Given the description of an element on the screen output the (x, y) to click on. 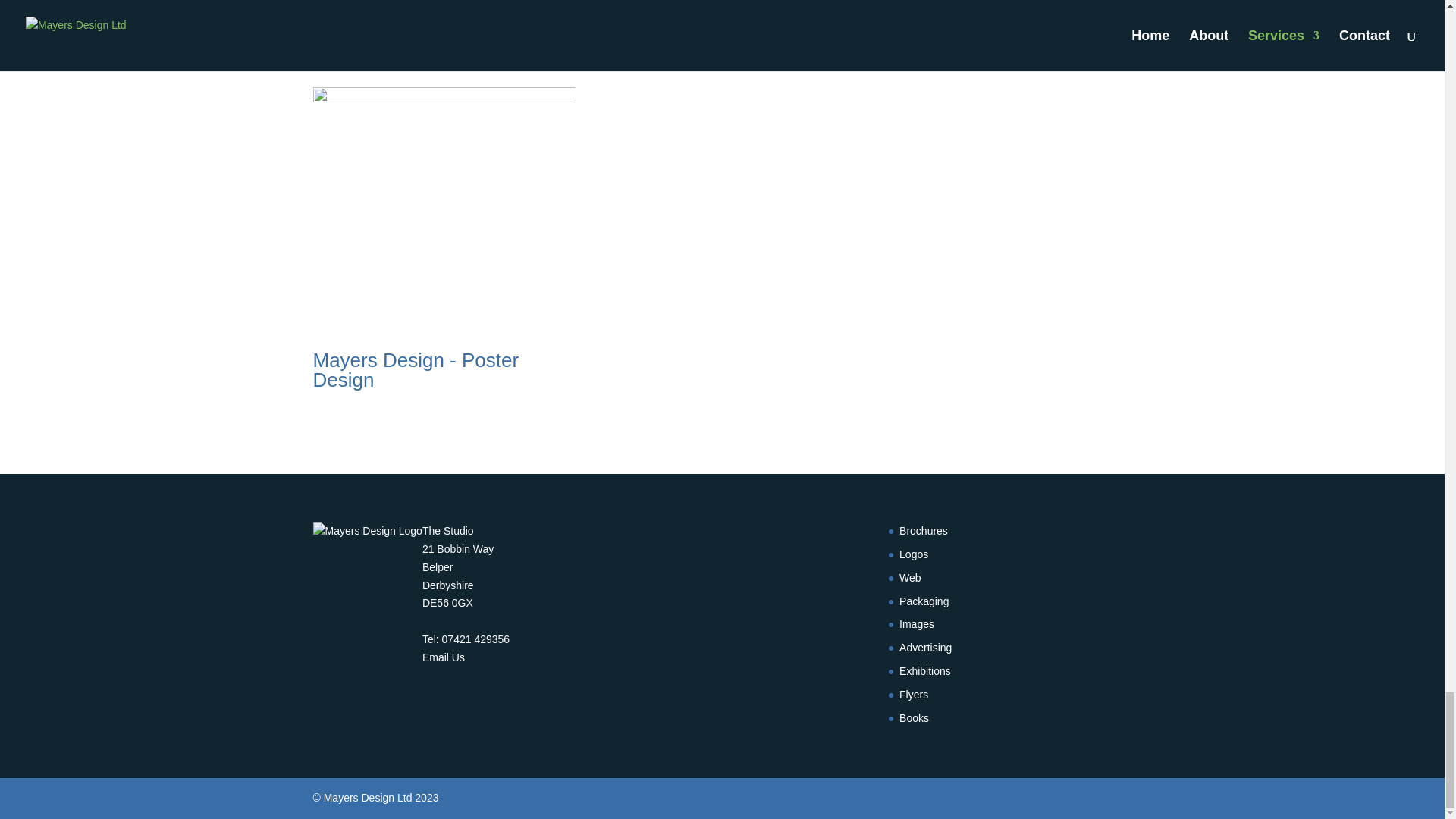
Logos (913, 553)
Email Us (443, 657)
Brochures (923, 530)
